Given the description of an element on the screen output the (x, y) to click on. 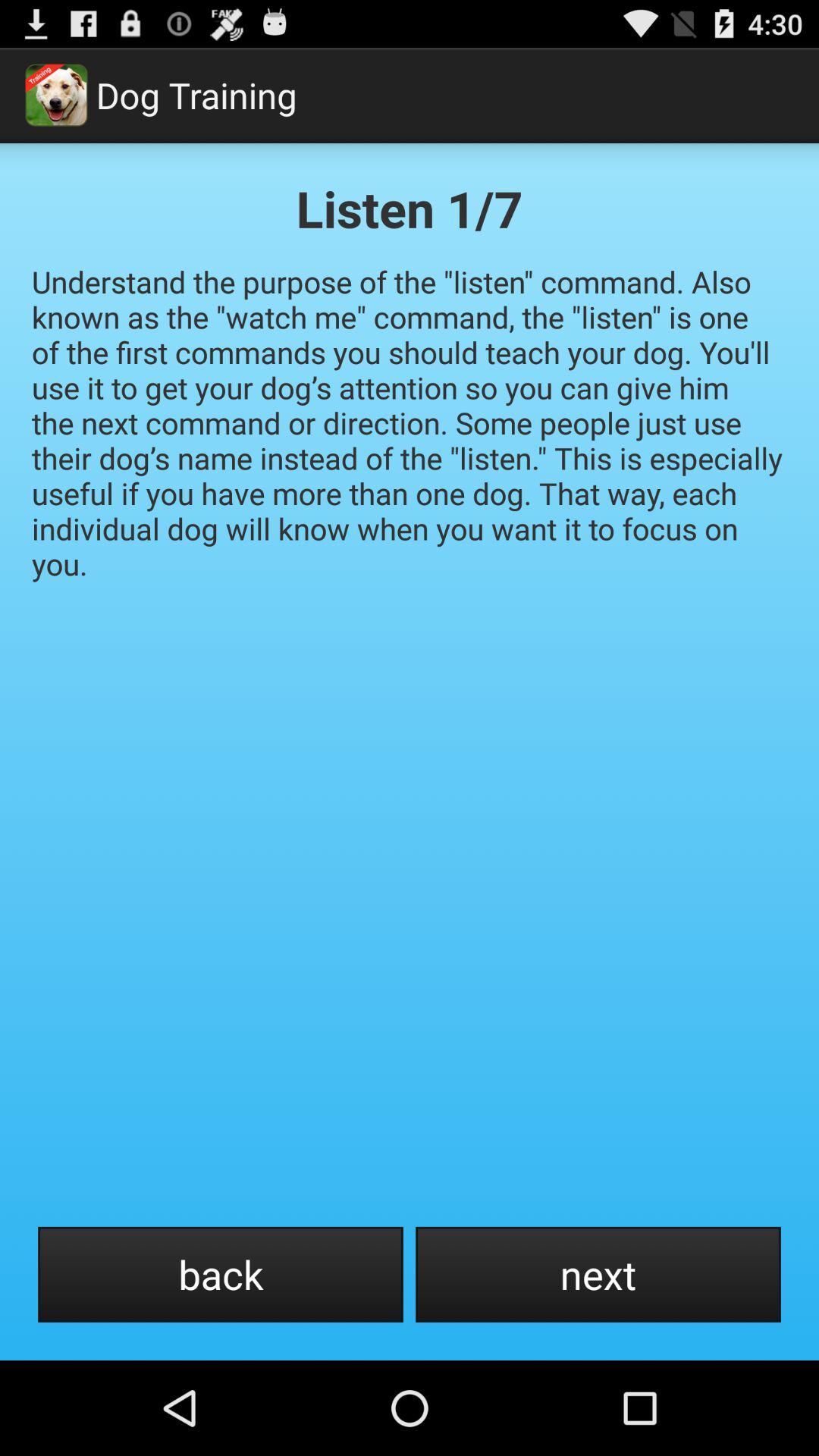
choose the item next to next (220, 1274)
